Given the description of an element on the screen output the (x, y) to click on. 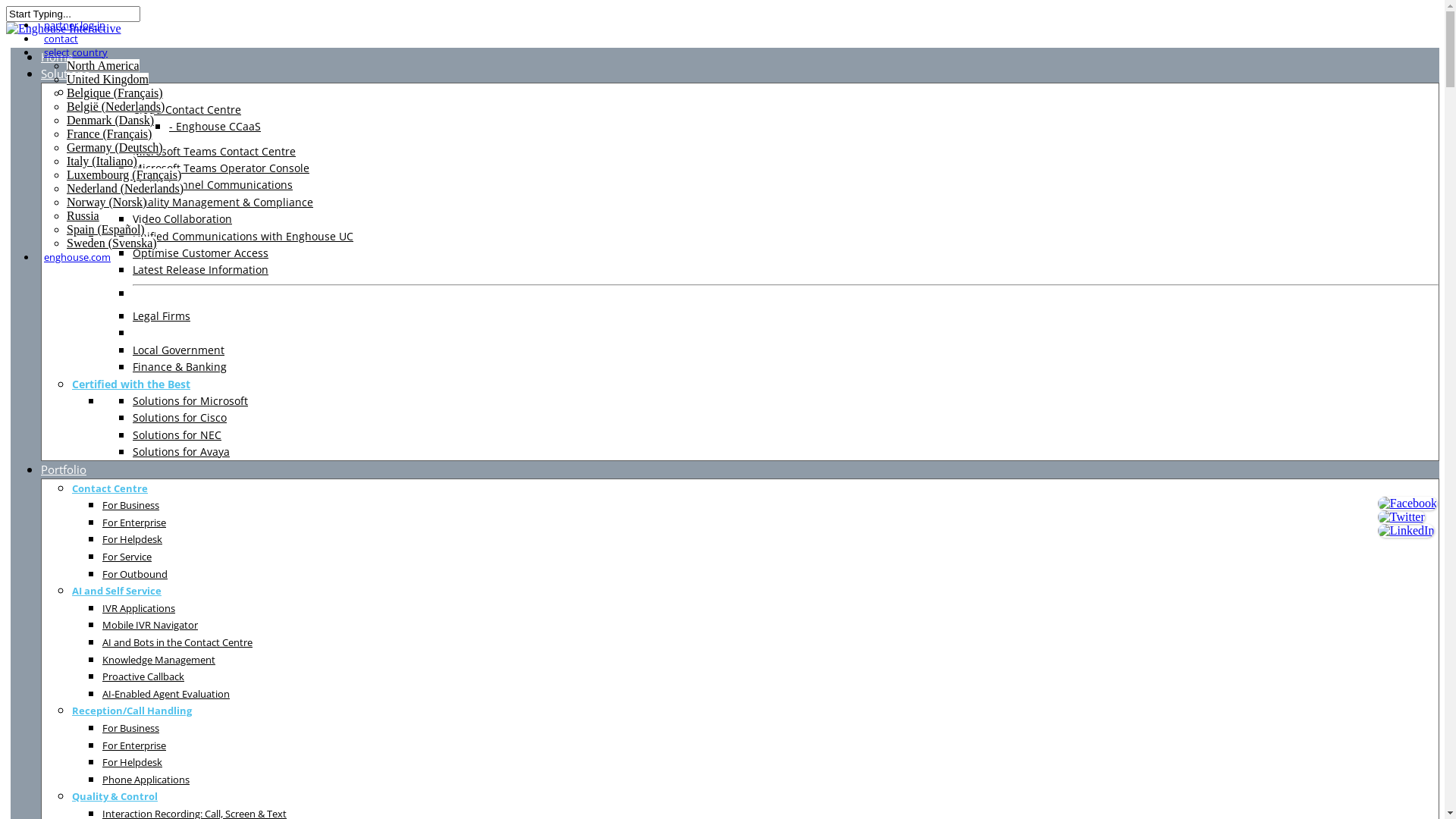
Unified Communications with Enghouse UC Element type: text (242, 236)
Microsoft Teams Operator Console Element type: text (220, 167)
For Enterprise Element type: text (134, 744)
Germany (Deutsch) Element type: text (114, 147)
Italy (Italiano) Element type: text (101, 160)
Knowledge Management Element type: text (158, 659)
For Service Element type: text (126, 556)
Video Collaboration Element type: text (182, 218)
United Kingdom Element type: text (107, 78)
For Outbound Element type: text (134, 573)
Latest Release Information Element type: text (200, 269)
AI and Self Service Element type: text (116, 590)
Enghouse CCaaS Element type: text (214, 126)
Solutions for NEC Element type: text (176, 434)
contact Element type: text (60, 38)
Optimise Customer Access Element type: text (200, 252)
Multi-channel Communications Element type: text (212, 184)
enghouse.com Element type: text (77, 256)
For Enterprise Element type: text (134, 521)
AI and Bots in the Contact Centre Element type: text (177, 641)
For Business Element type: text (130, 727)
Quality & Control Element type: text (114, 795)
Quality Management & Compliance Element type: text (222, 201)
Microsoft Teams Contact Centre Element type: text (213, 151)
Solutions for Microsoft Element type: text (189, 400)
select country Element type: text (75, 51)
Nederland (Nederlands) Element type: text (124, 188)
IVR Applications Element type: text (138, 607)
Cloud Contact Centre Element type: text (186, 109)
partner log-in Element type: text (74, 24)
Portfolio Element type: text (63, 469)
Legal Firms Element type: text (161, 315)
For Helpdesk Element type: text (132, 761)
North America Element type: text (102, 65)
Our Solutions Element type: text (108, 91)
Norway (Norsk) Element type: text (106, 201)
Russia Element type: text (82, 215)
Phone Applications Element type: text (145, 778)
For Business Element type: text (130, 504)
AI-Enabled Agent Evaluation Element type: text (165, 693)
Certified with the Best Element type: text (131, 383)
Proactive Callback Element type: text (143, 675)
Denmark (Dansk) Element type: text (109, 119)
Mobile IVR Navigator Element type: text (149, 624)
Reception/Call Handling Element type: text (131, 709)
Local Government Element type: text (178, 349)
Solutions Element type: text (64, 73)
Sweden (Svenska) Element type: text (111, 242)
Home Element type: text (56, 56)
For Helpdesk Element type: text (132, 538)
Solutions for Cisco Element type: text (179, 417)
Solutions for Avaya Element type: text (180, 451)
Contact Centre Element type: text (109, 487)
Finance & Banking Element type: text (179, 366)
